Given the description of an element on the screen output the (x, y) to click on. 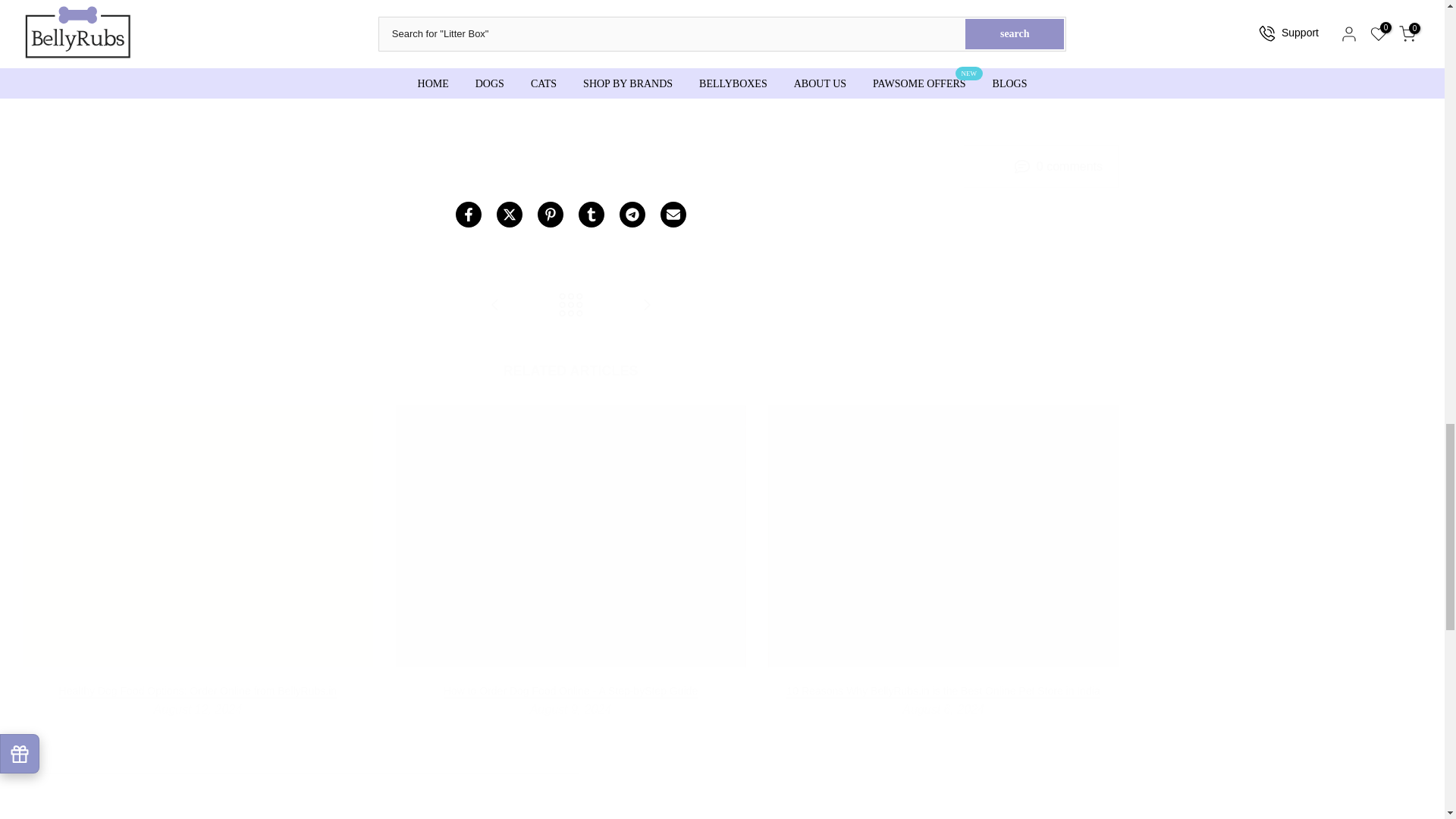
Share on Tumblr (591, 214)
Share on Telegram (631, 214)
Back to BellyRubs Blogs (570, 305)
How to Choose the Best Dog Shampoo Online (646, 305)
Share on Pinterest (549, 214)
Share on Facebook (467, 214)
Share on Twitter (508, 214)
Share on Email (672, 214)
